Given the description of an element on the screen output the (x, y) to click on. 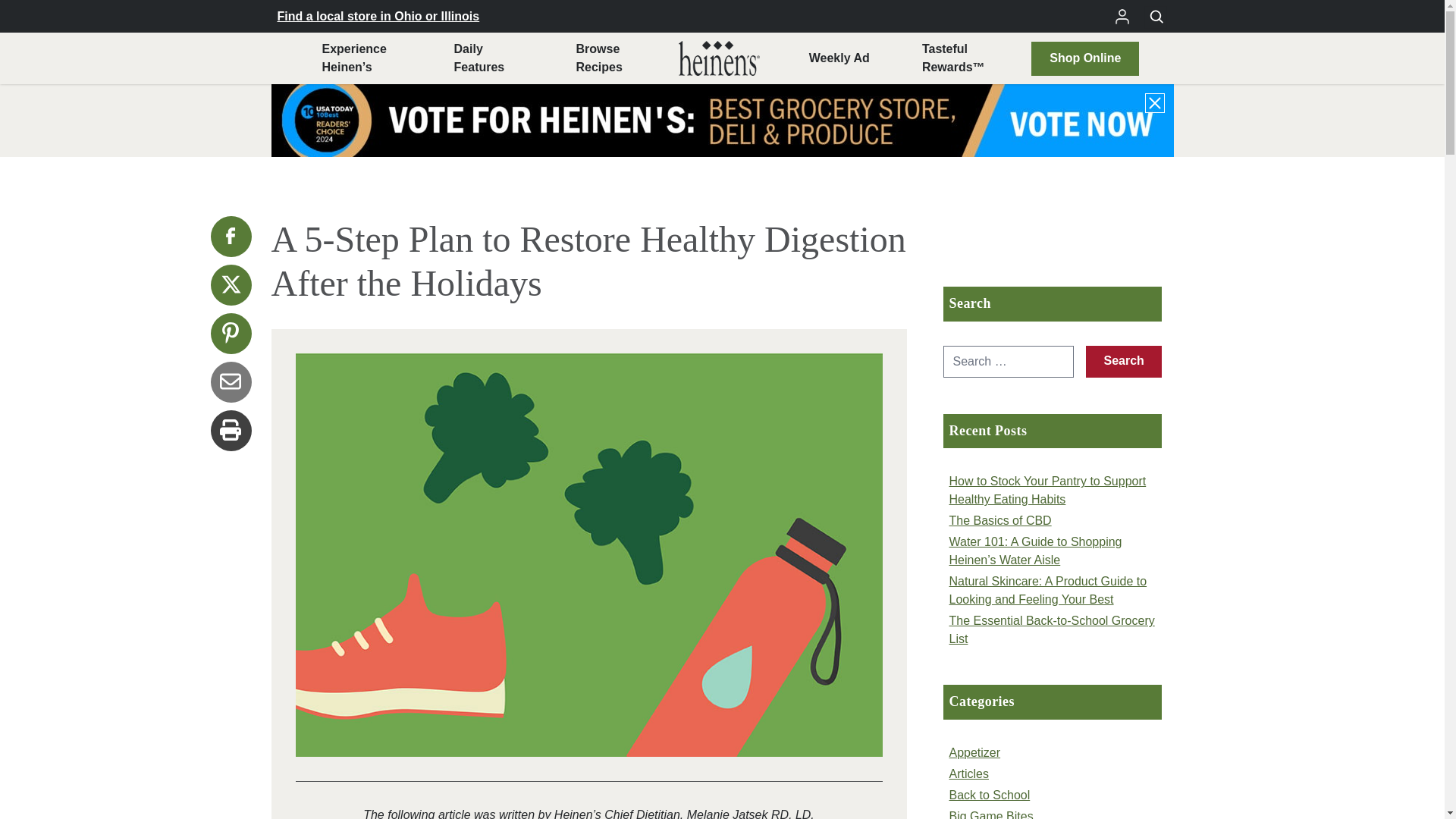
Connect with Heinen's on Pinterest (231, 332)
Send us an Email (231, 381)
Find a local store in Ohio or Illinois (598, 58)
Shop Online (379, 15)
Connect with Heinen's on X (1084, 57)
Connect with Heinen's on Facebook (478, 58)
Weekly Ad (231, 284)
Print this page (231, 236)
